Given the description of an element on the screen output the (x, y) to click on. 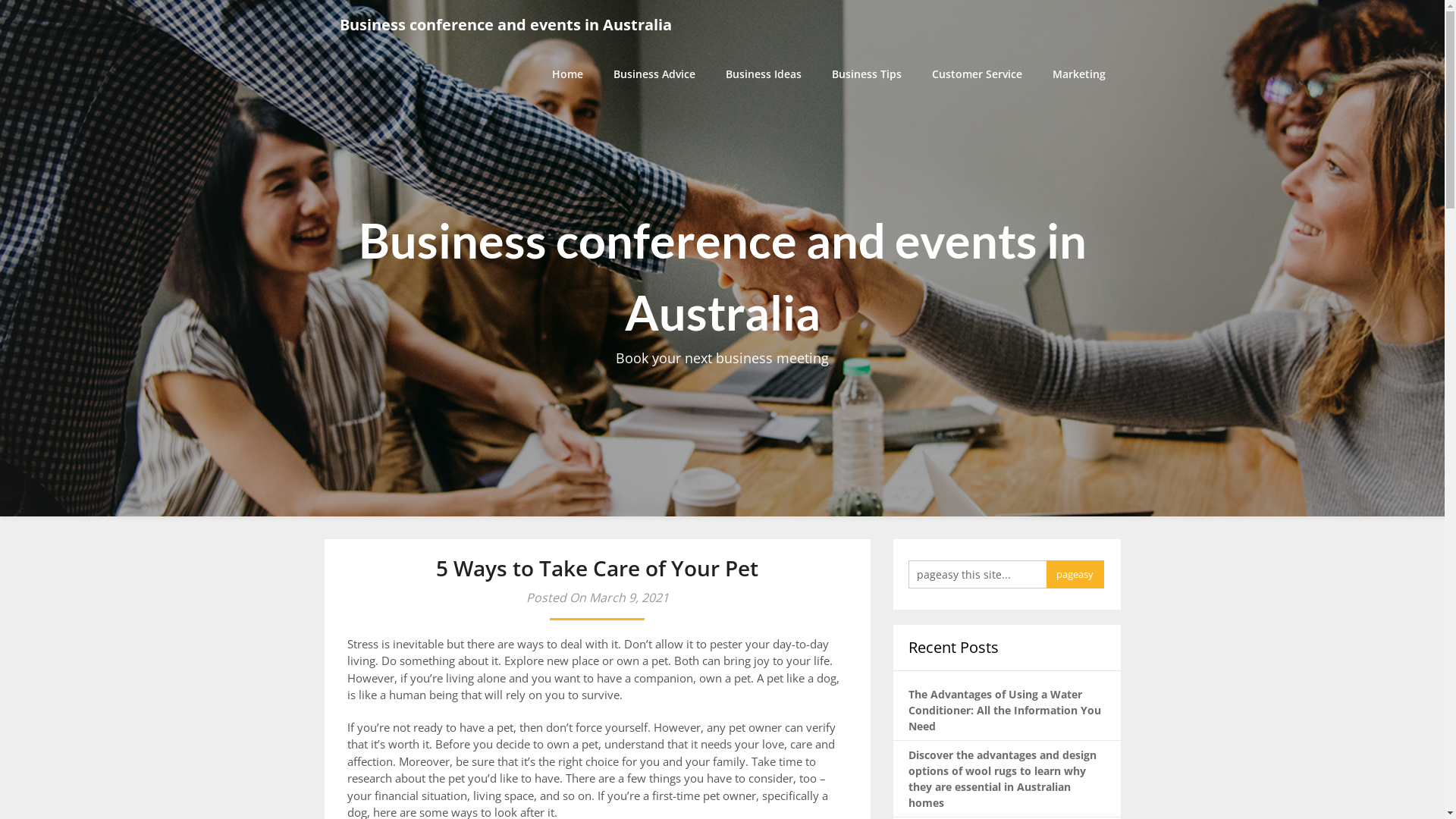
Marketing Element type: text (1078, 73)
Business conference and events in Australia Element type: text (505, 24)
pageasy Element type: text (1075, 574)
Business Tips Element type: text (865, 73)
Home Element type: text (575, 73)
Business Advice Element type: text (653, 73)
Customer Service Element type: text (976, 73)
Business Ideas Element type: text (762, 73)
